Given the description of an element on the screen output the (x, y) to click on. 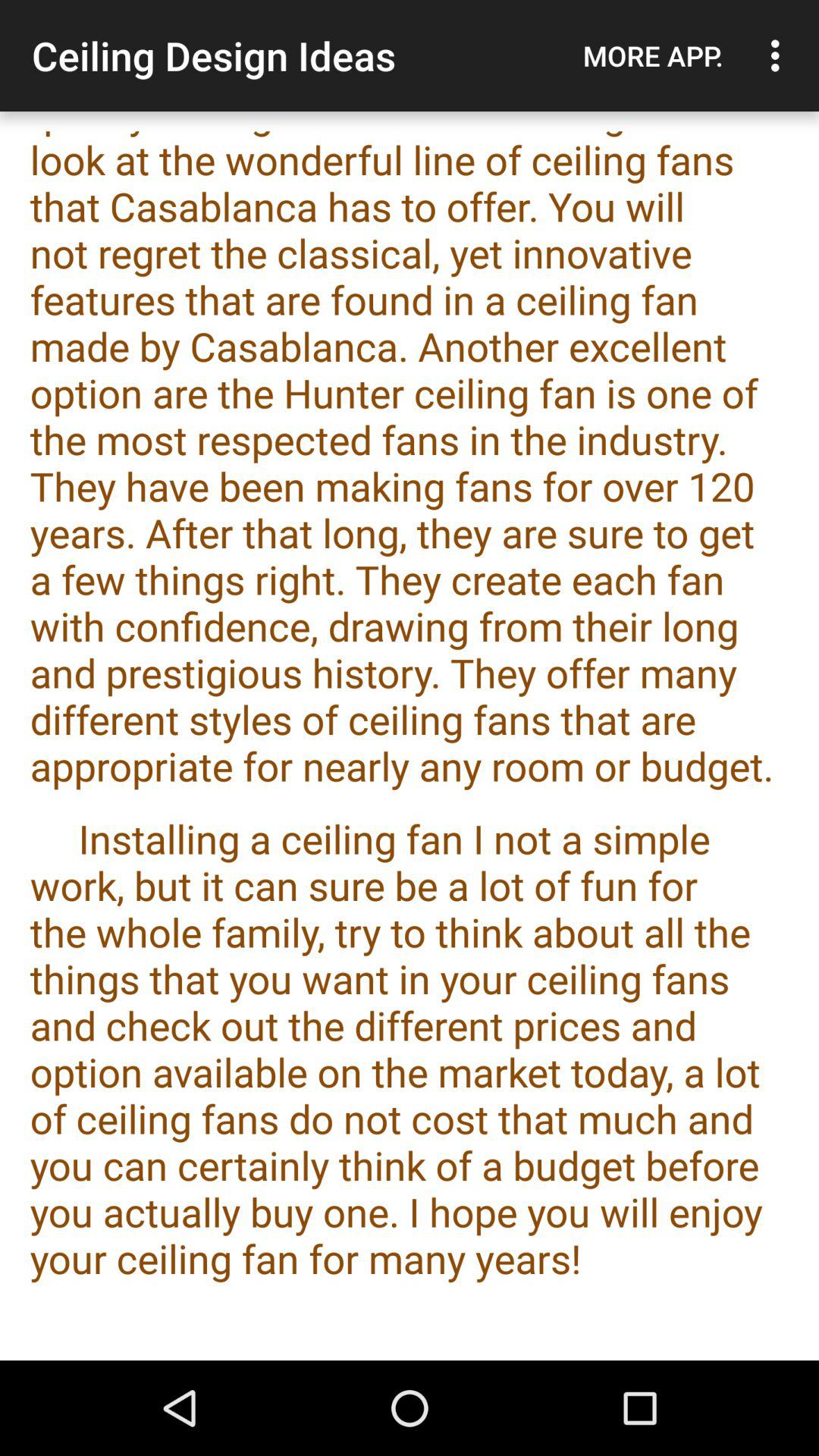
click the more app. (653, 55)
